Given the description of an element on the screen output the (x, y) to click on. 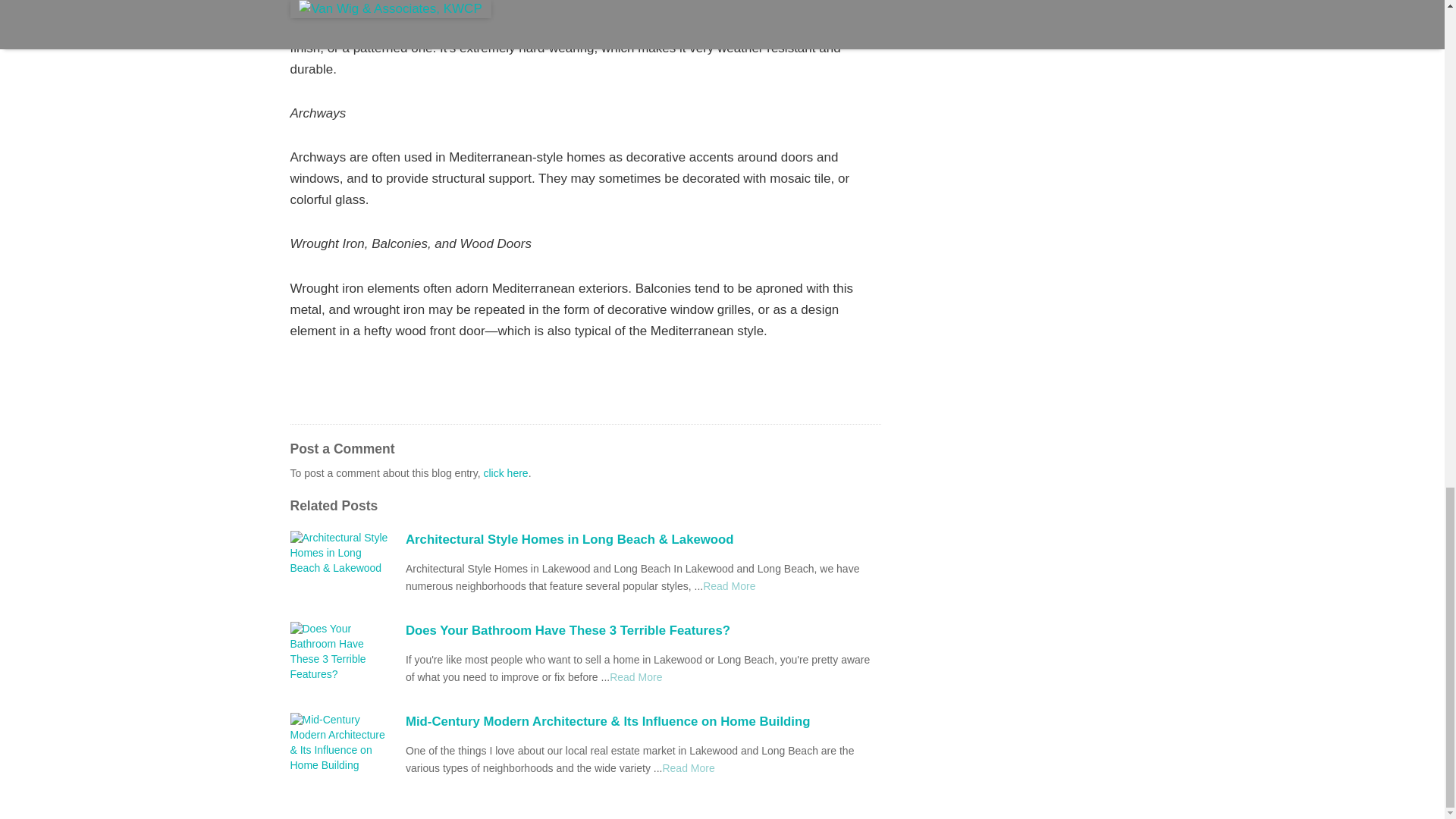
Does Your Bathroom Have These 3 Terrible Features? (643, 630)
What Is a Mediterranean-Style Home?   (636, 676)
What Is a Mediterranean-Style Home?   (688, 767)
What Is a Mediterranean-Style Home?   (729, 585)
